Given the description of an element on the screen output the (x, y) to click on. 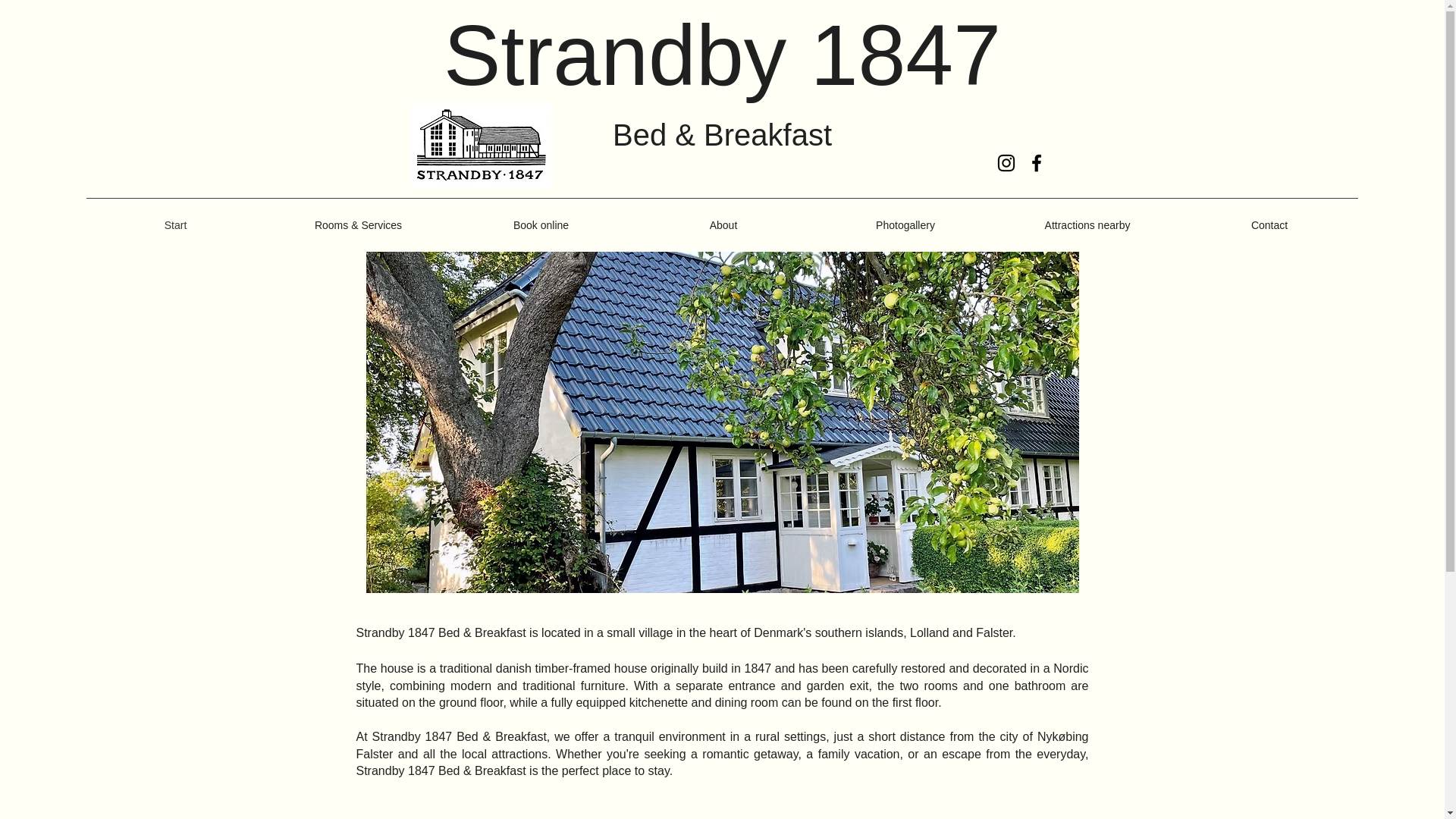
Book online (540, 225)
Contact (1268, 225)
About (722, 225)
Start (175, 225)
Photogallery (904, 225)
Attractions nearby (1086, 225)
